Given the description of an element on the screen output the (x, y) to click on. 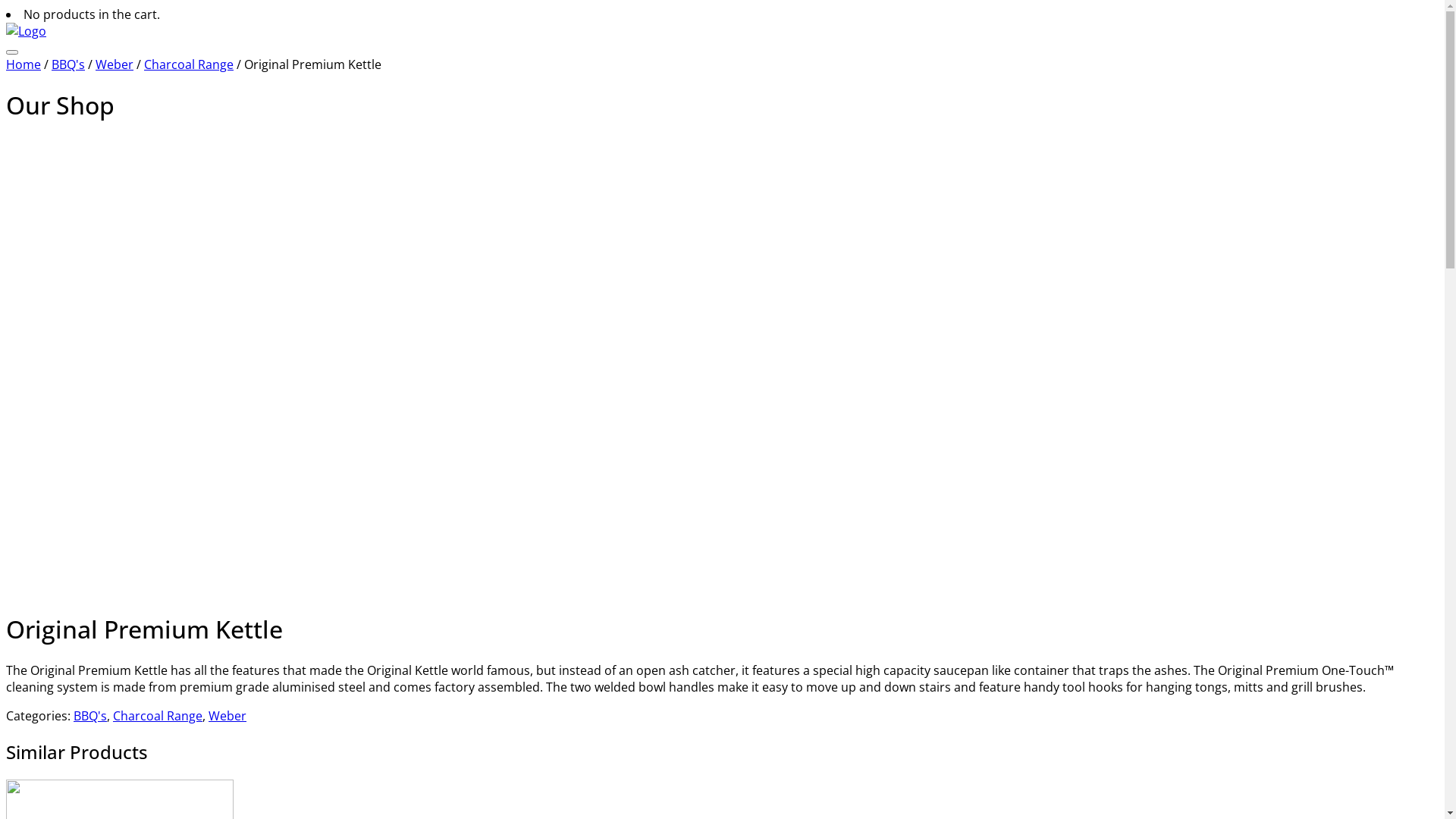
Home Element type: text (23, 64)
Charcoal Range Element type: text (157, 715)
BBQ's Element type: text (67, 64)
Weber Element type: text (114, 64)
Charcoal Range Element type: text (188, 64)
Weber Element type: text (227, 715)
BBQ's Element type: text (89, 715)
